Given the description of an element on the screen output the (x, y) to click on. 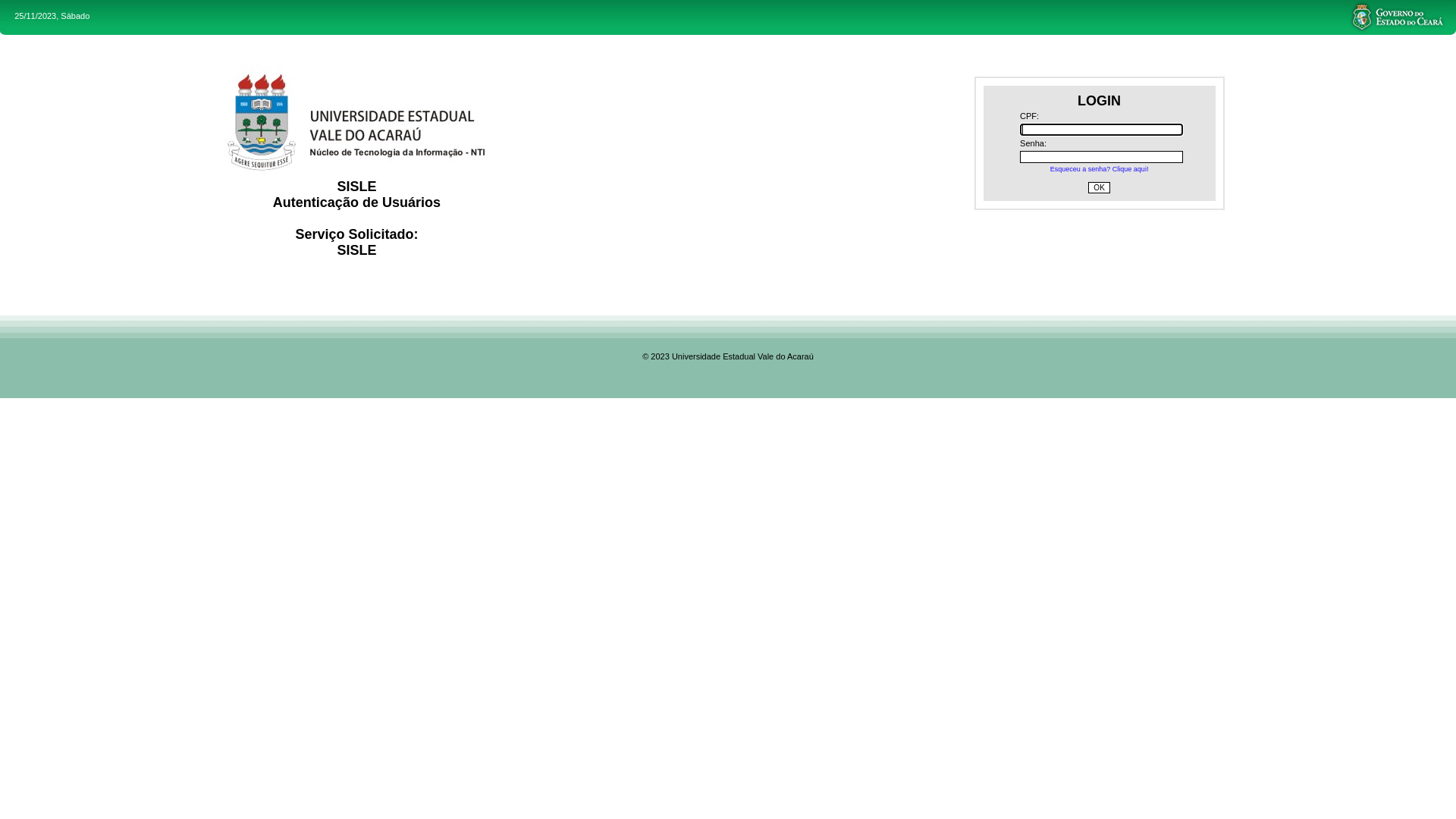
OK Element type: text (1098, 187)
Cancelar Element type: text (161, 380)
Cancelar Element type: text (184, 380)
Esqueceu a senha? Clique aqui! Element type: text (1099, 168)
OK Element type: text (196, 380)
OK Element type: text (883, 295)
Cancelar Element type: text (76, 381)
OK Element type: text (110, 381)
Cancelar Element type: text (775, 299)
OK Element type: text (763, 250)
OK Element type: text (779, 295)
OK Element type: text (772, 295)
OK Element type: text (810, 299)
OK Element type: text (218, 380)
